Given the description of an element on the screen output the (x, y) to click on. 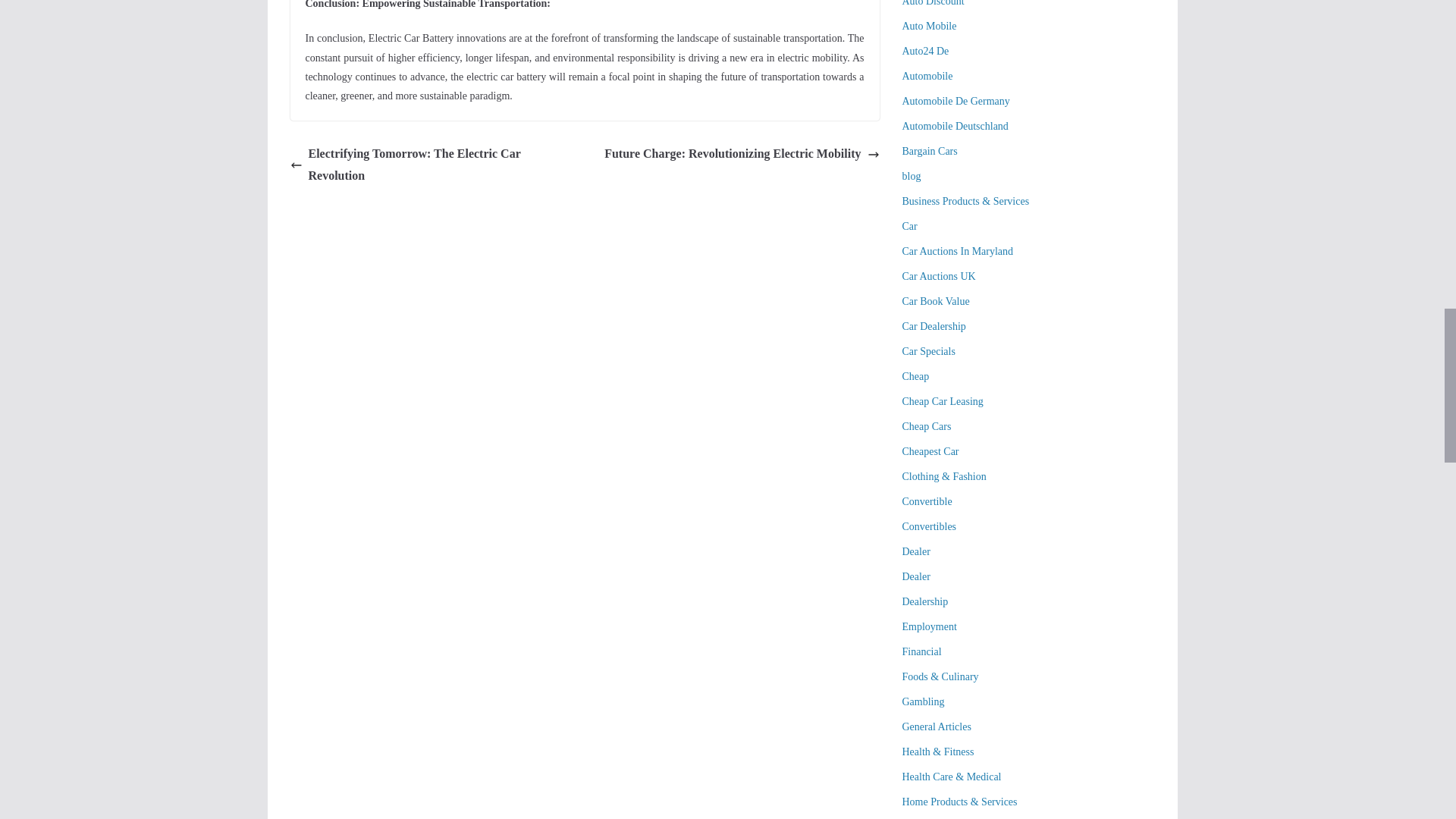
Future Charge: Revolutionizing Electric Mobility (741, 154)
Electrifying Tomorrow: The Electric Car Revolution (432, 165)
